Given the description of an element on the screen output the (x, y) to click on. 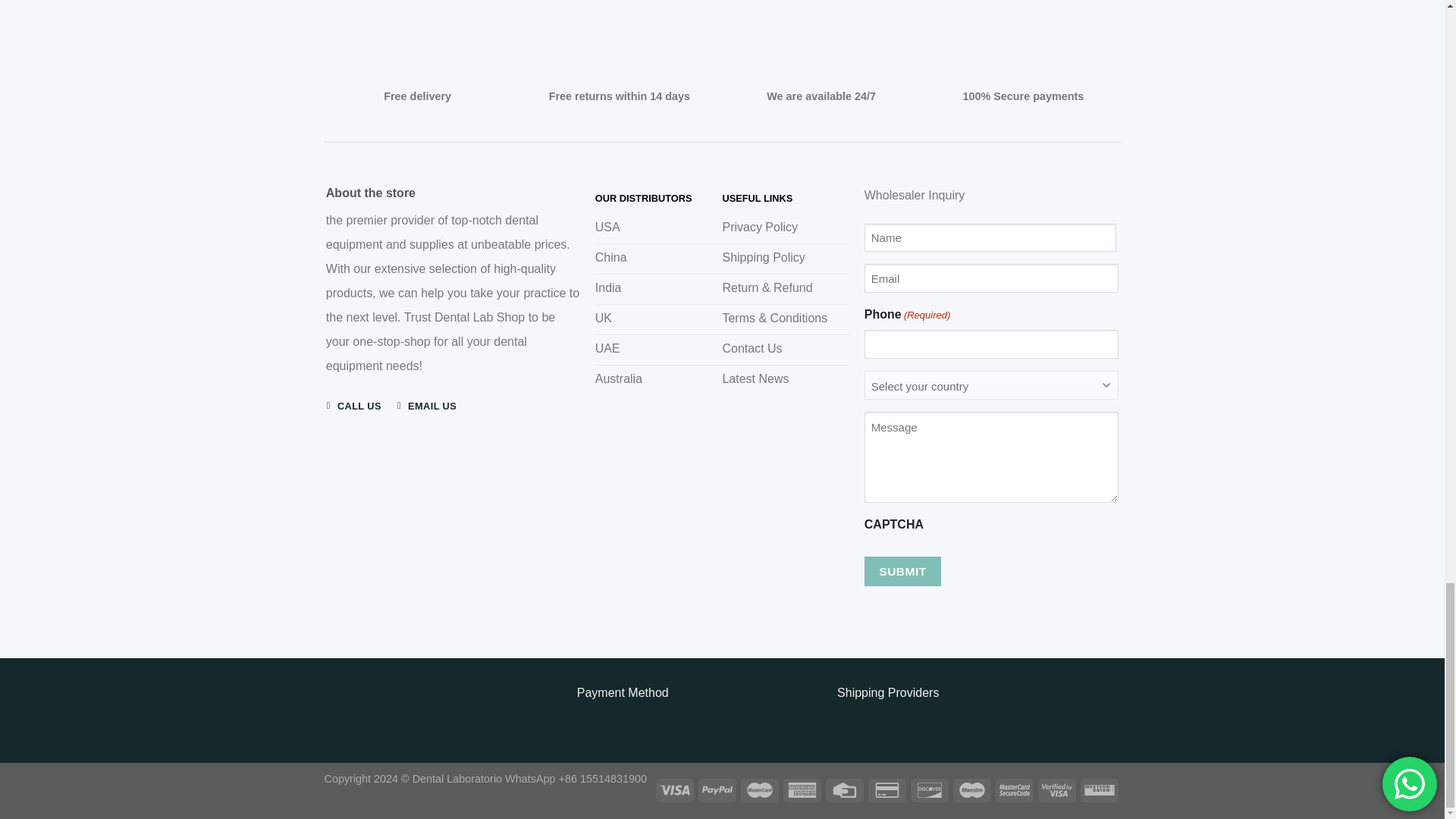
Submit (902, 571)
